Given the description of an element on the screen output the (x, y) to click on. 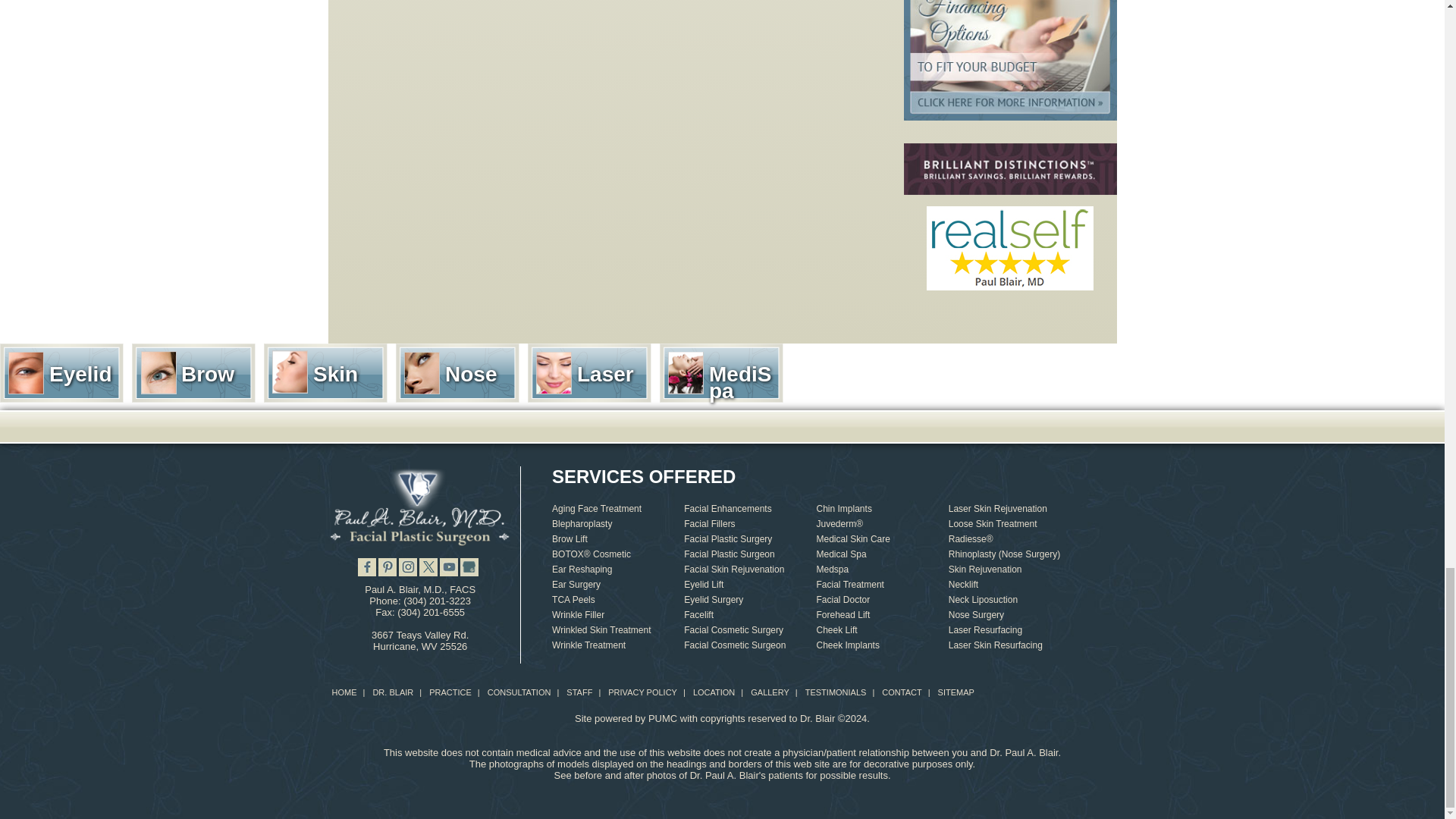
Brilliant Distinctions, Hurricane, WV (1010, 168)
RealSelf, Hurricane, WV (1009, 248)
Dr. Paul Blair, M.D., Financing Hurricane, WV (1010, 60)
